Given the description of an element on the screen output the (x, y) to click on. 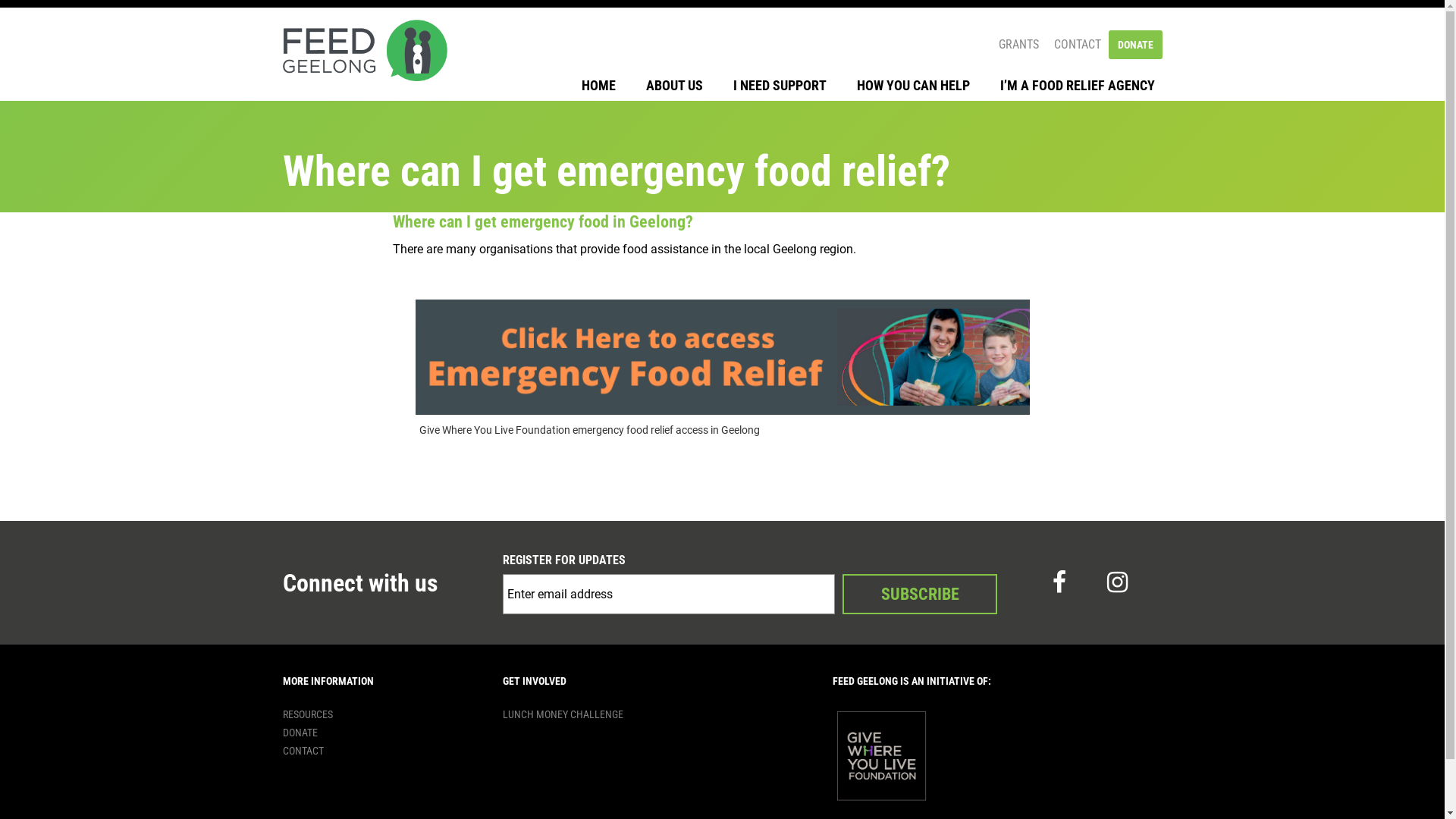
RESOURCES Element type: text (307, 714)
HOME Element type: text (597, 85)
DONATE Element type: text (299, 732)
CONTACT Element type: text (1077, 44)
I NEED SUPPORT Element type: text (778, 85)
GRANTS Element type: text (1017, 44)
HOW YOU CAN HELP Element type: text (913, 85)
ABOUT US Element type: text (674, 85)
DONATE Element type: text (1135, 44)
CONTACT Element type: text (302, 750)
LUNCH MONEY CHALLENGE Element type: text (562, 714)
Subscribe Element type: text (919, 594)
